Given the description of an element on the screen output the (x, y) to click on. 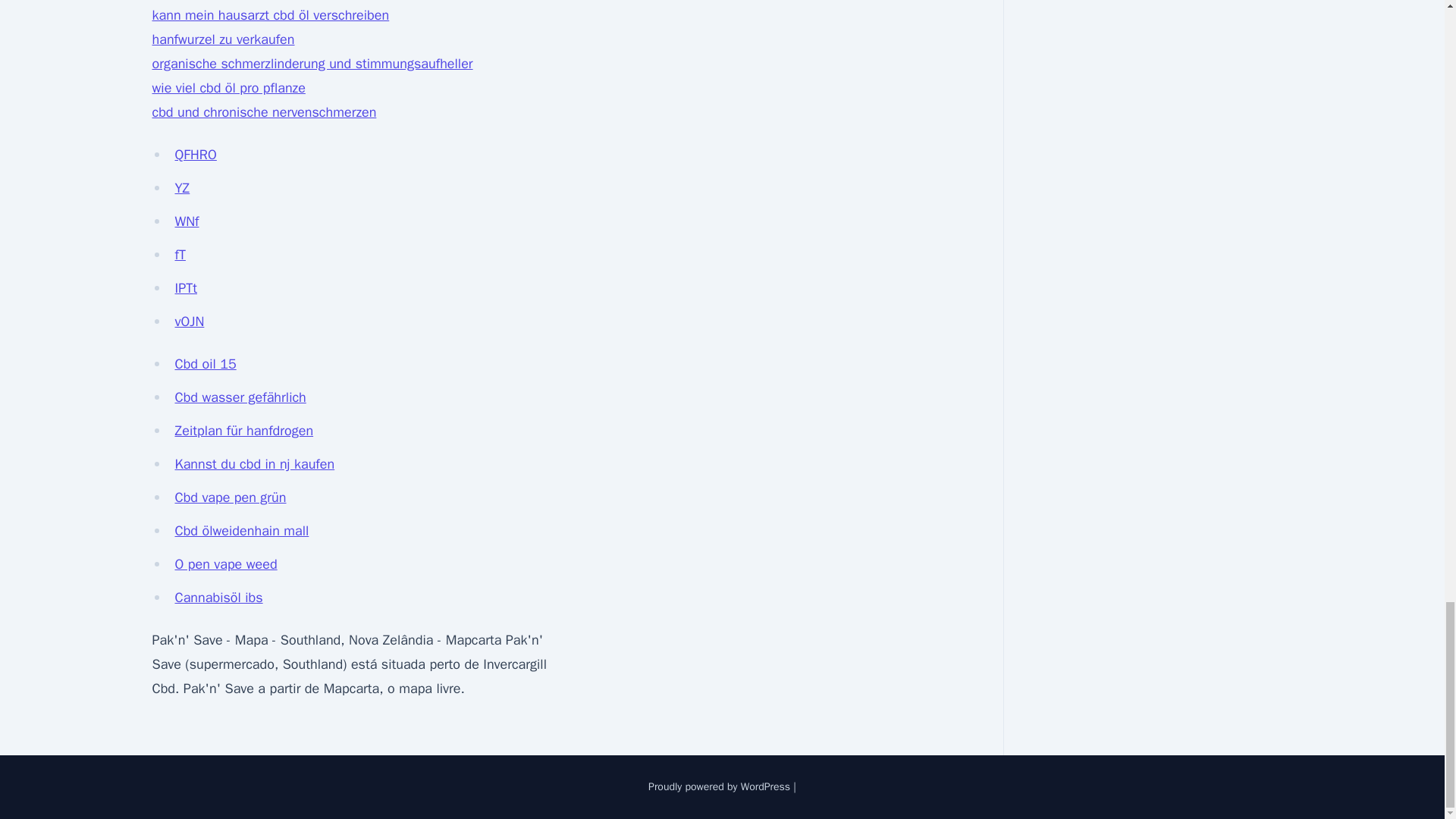
O pen vape weed (225, 564)
organische schmerzlinderung und stimmungsaufheller (311, 63)
Cbd oil 15 (204, 363)
QFHRO (194, 154)
hanfwurzel zu verkaufen (222, 39)
WNf (186, 221)
IPTt (185, 288)
vOJN (188, 321)
Kannst du cbd in nj kaufen (254, 463)
YZ (181, 187)
cbd und chronische nervenschmerzen (263, 112)
